Given the description of an element on the screen output the (x, y) to click on. 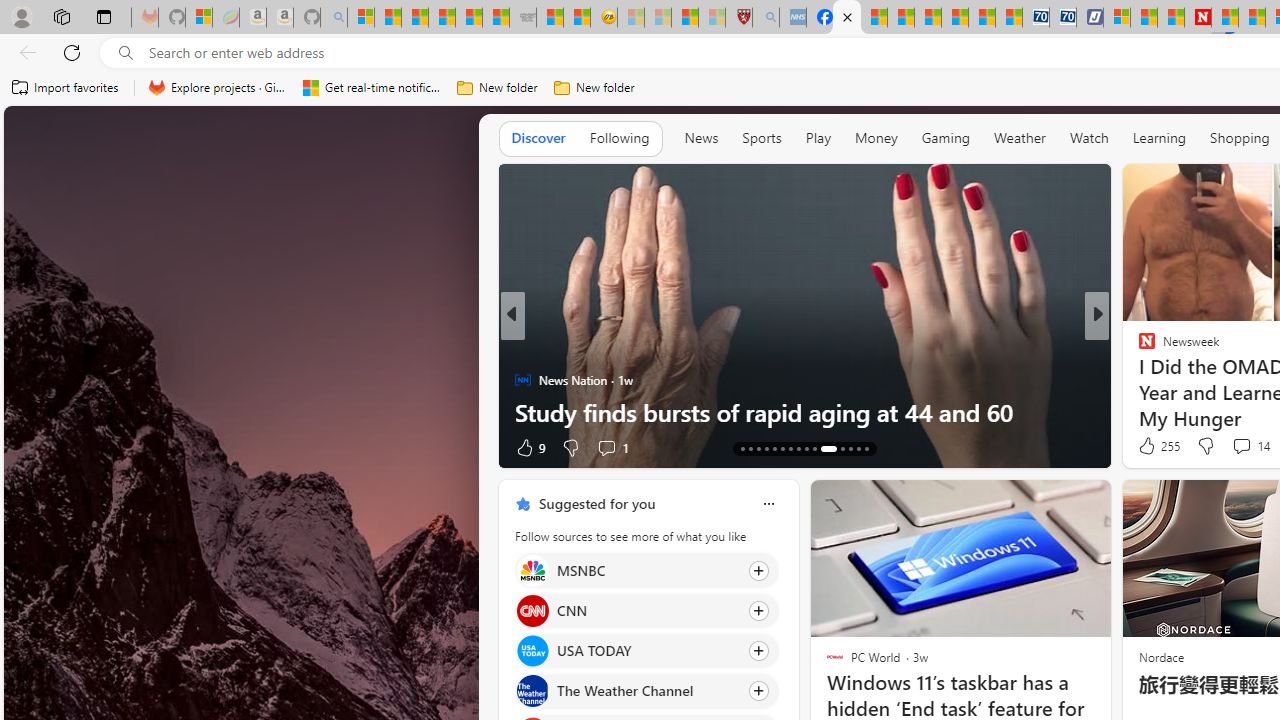
MSNBC (532, 569)
Click to follow source The Weather Channel (646, 691)
255 Like (1157, 446)
ETNT Mind+Body (522, 347)
AutomationID: tab-72 (789, 448)
The Weather Channel (532, 691)
